Given the description of an element on the screen output the (x, y) to click on. 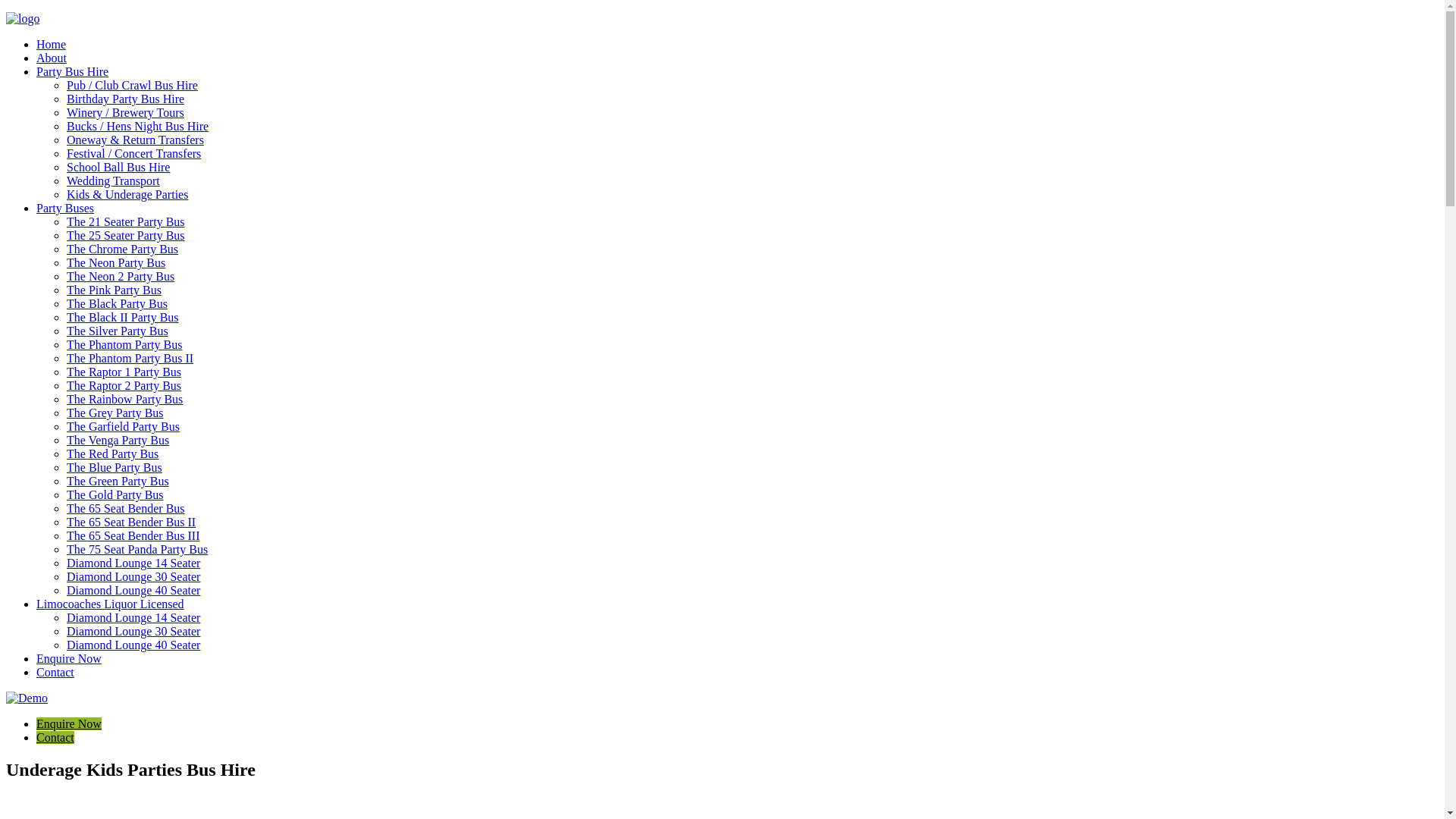
The Phantom Party Bus II Element type: text (129, 357)
The 65 Seat Bender Bus II Element type: text (130, 521)
The Chrome Party Bus Element type: text (122, 248)
The Rainbow Party Bus Element type: text (124, 398)
Enquire Now Element type: text (68, 658)
Contact Element type: text (55, 737)
Wedding Transport Element type: text (113, 180)
About Element type: text (51, 57)
Contact Element type: text (55, 671)
The 25 Seater Party Bus Element type: text (125, 235)
Winery / Brewery Tours Element type: text (125, 112)
The Raptor 2 Party Bus Element type: text (123, 385)
The Gold Party Bus Element type: text (114, 494)
Bucks / Hens Night Bus Hire Element type: text (137, 125)
The Silver Party Bus Element type: text (117, 330)
Pub / Club Crawl Bus Hire Element type: text (131, 84)
The Neon Party Bus Element type: text (115, 262)
The Blue Party Bus Element type: text (114, 467)
The 75 Seat Panda Party Bus Element type: text (136, 548)
The 65 Seat Bender Bus Element type: text (125, 508)
The Grey Party Bus Element type: text (114, 412)
Festival / Concert Transfers Element type: text (133, 153)
Limocoaches Liquor Licensed Element type: text (110, 603)
The Green Party Bus Element type: text (117, 480)
Diamond Lounge 14 Seater Element type: text (133, 617)
Party Bus Hire Element type: text (72, 71)
Diamond Lounge 30 Seater Element type: text (133, 576)
The Phantom Party Bus Element type: text (124, 344)
Birthday Party Bus Hire Element type: text (125, 98)
The 21 Seater Party Bus Element type: text (125, 221)
Kids & Underage Parties Element type: text (127, 194)
The Garfield Party Bus Element type: text (122, 426)
The Black II Party Bus Element type: text (122, 316)
Party Buses Element type: text (65, 207)
Home Element type: text (50, 43)
The Red Party Bus Element type: text (112, 453)
The Pink Party Bus Element type: text (113, 289)
Diamond Lounge 40 Seater Element type: text (133, 644)
Oneway & Return Transfers Element type: text (134, 139)
Diamond Lounge 40 Seater Element type: text (133, 589)
Diamond Lounge 30 Seater Element type: text (133, 630)
Enquire Now Element type: text (68, 723)
The Venga Party Bus Element type: text (117, 439)
Diamond Lounge 14 Seater Element type: text (133, 562)
The Raptor 1 Party Bus Element type: text (123, 371)
The Neon 2 Party Bus Element type: text (120, 275)
School Ball Bus Hire Element type: text (117, 166)
The Black Party Bus Element type: text (116, 303)
The 65 Seat Bender Bus III Element type: text (133, 535)
